Given the description of an element on the screen output the (x, y) to click on. 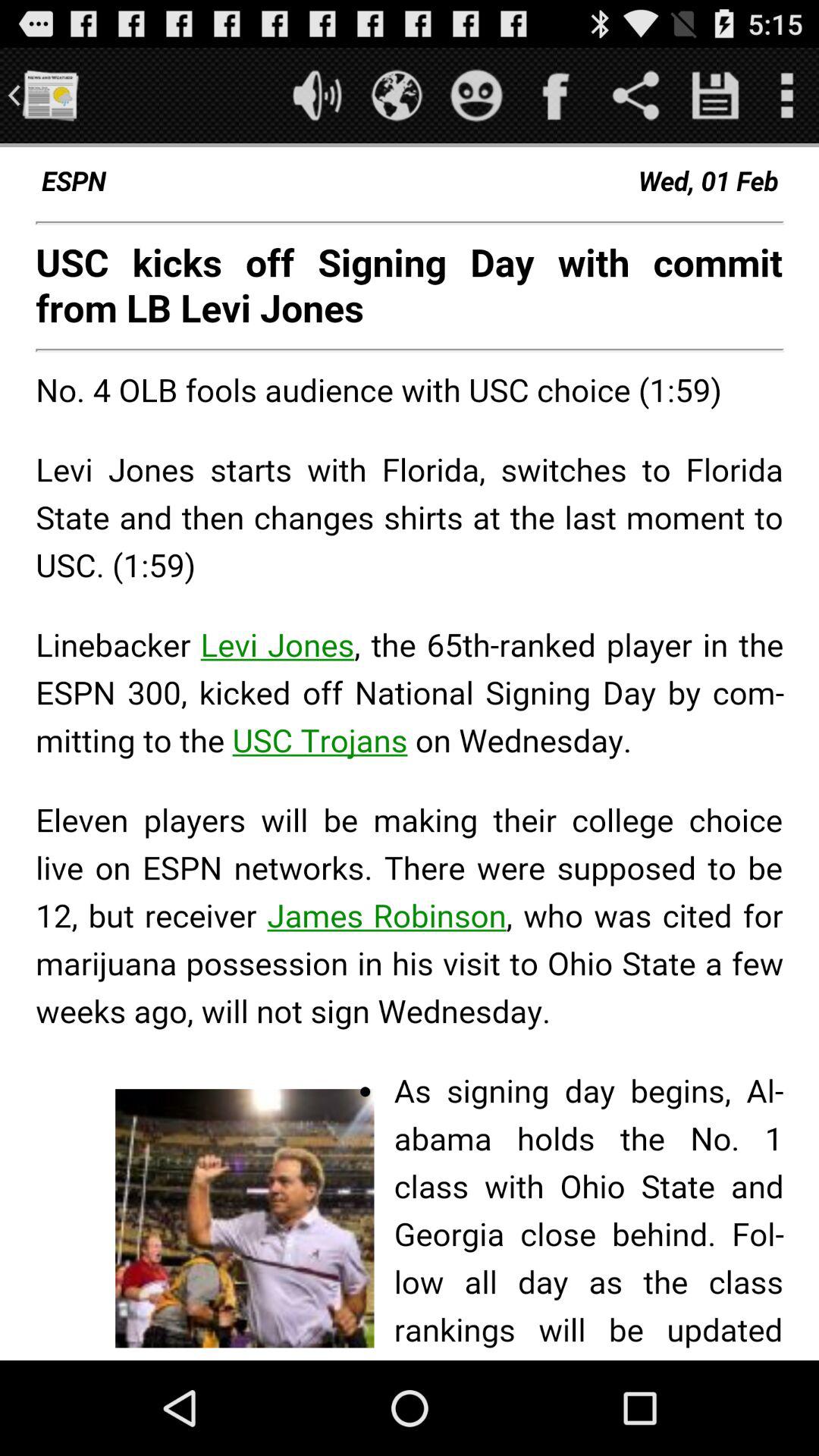
open menu (787, 95)
